Given the description of an element on the screen output the (x, y) to click on. 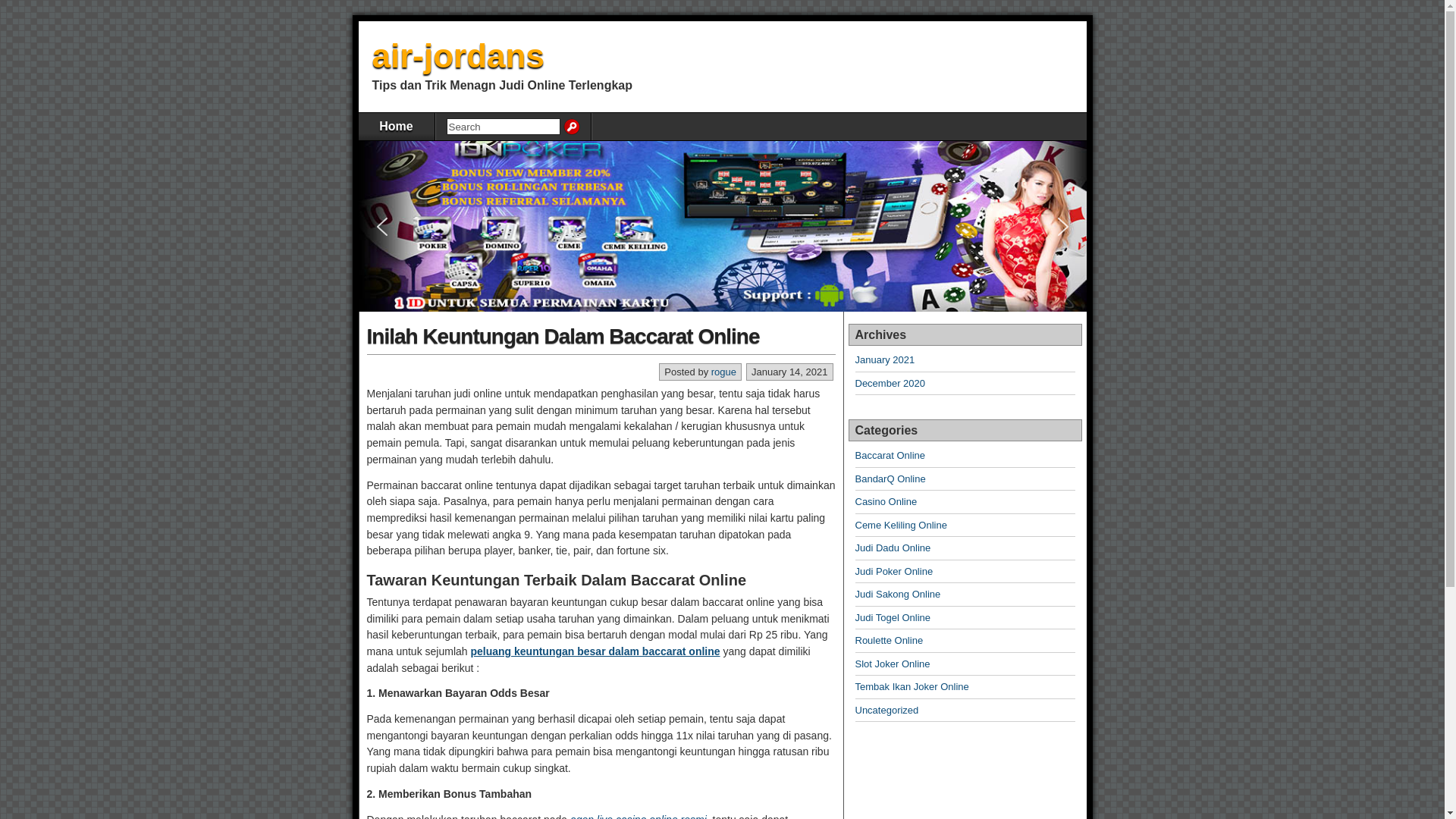
Judi Poker Online Element type: text (894, 571)
rogue Element type: text (723, 371)
Home Element type: text (395, 126)
Slot Joker Online Element type: text (892, 663)
BandarQ Online Element type: text (890, 478)
Baccarat Online Element type: text (890, 455)
Judi Togel Online Element type: text (893, 617)
Inilah Keuntungan Dalam Baccarat Online Element type: text (563, 336)
Judi Dadu Online Element type: text (893, 547)
Roulette Online Element type: text (889, 640)
peluang keuntungan besar dalam baccarat online Element type: text (594, 651)
Ceme Keliling Online Element type: text (901, 524)
air-jordans Element type: text (457, 55)
Uncategorized Element type: text (887, 709)
Tembak Ikan Joker Online Element type: text (912, 686)
December 2020 Element type: text (890, 383)
Casino Online Element type: text (886, 501)
January 2021 Element type: text (885, 359)
Judi Sakong Online Element type: text (898, 593)
